Given the description of an element on the screen output the (x, y) to click on. 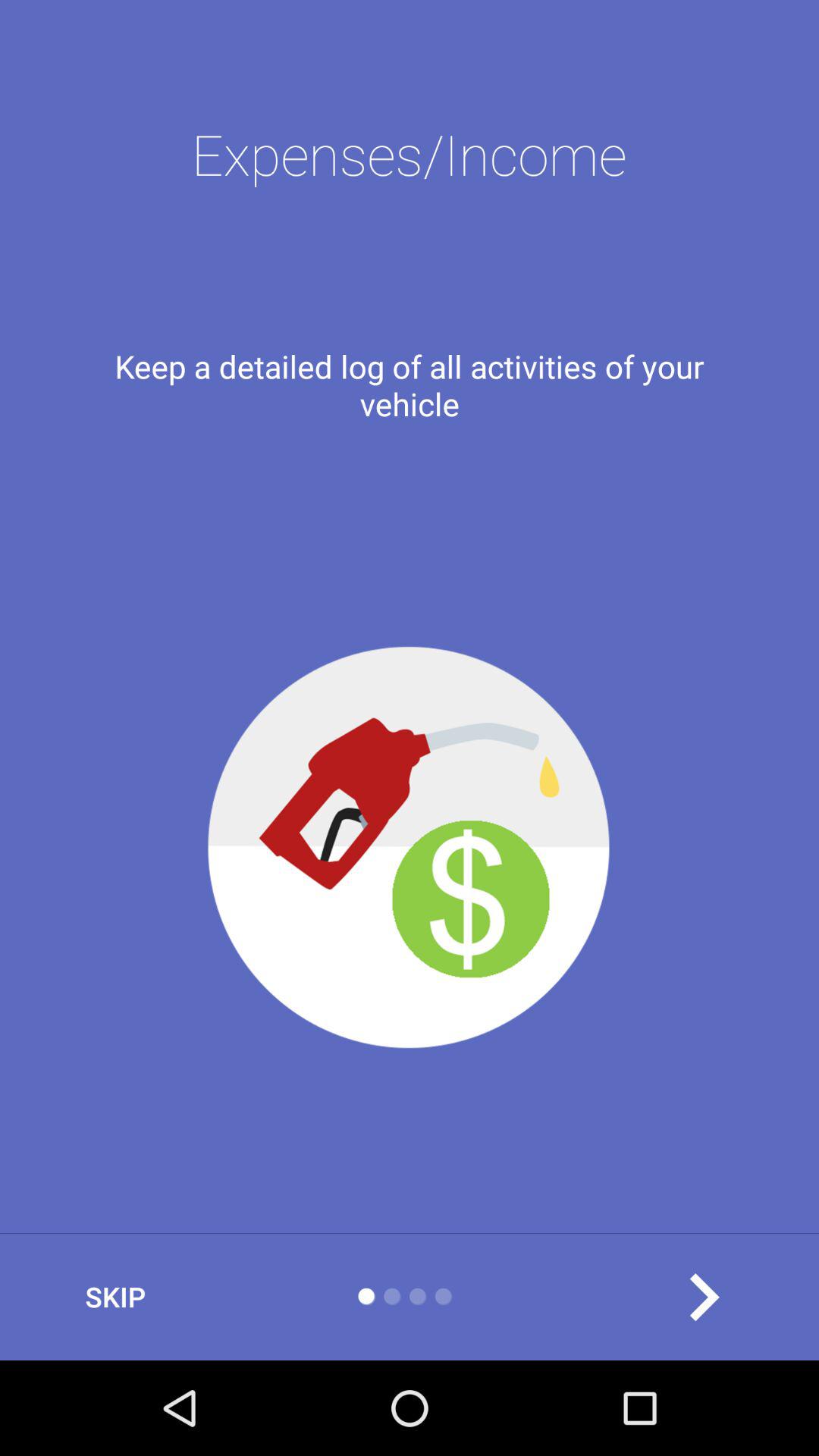
turn off the item at the bottom left corner (114, 1296)
